Given the description of an element on the screen output the (x, y) to click on. 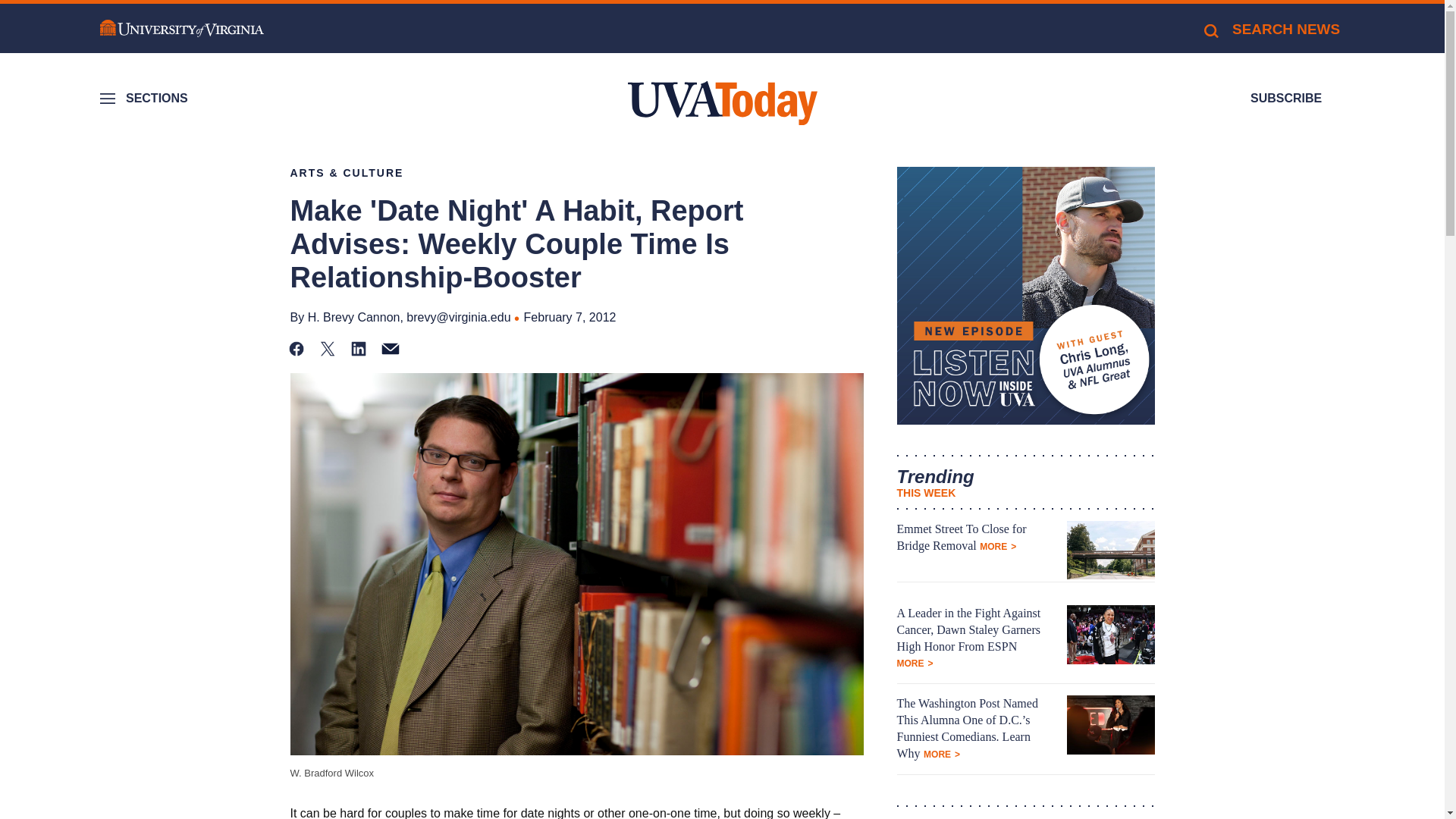
SEARCH NEWS (1270, 28)
H. Brevy Cannon (353, 317)
SECTIONS (145, 98)
Home (721, 103)
University of Virginia Logo (181, 28)
SUBSCRIBE (1286, 98)
